Given the description of an element on the screen output the (x, y) to click on. 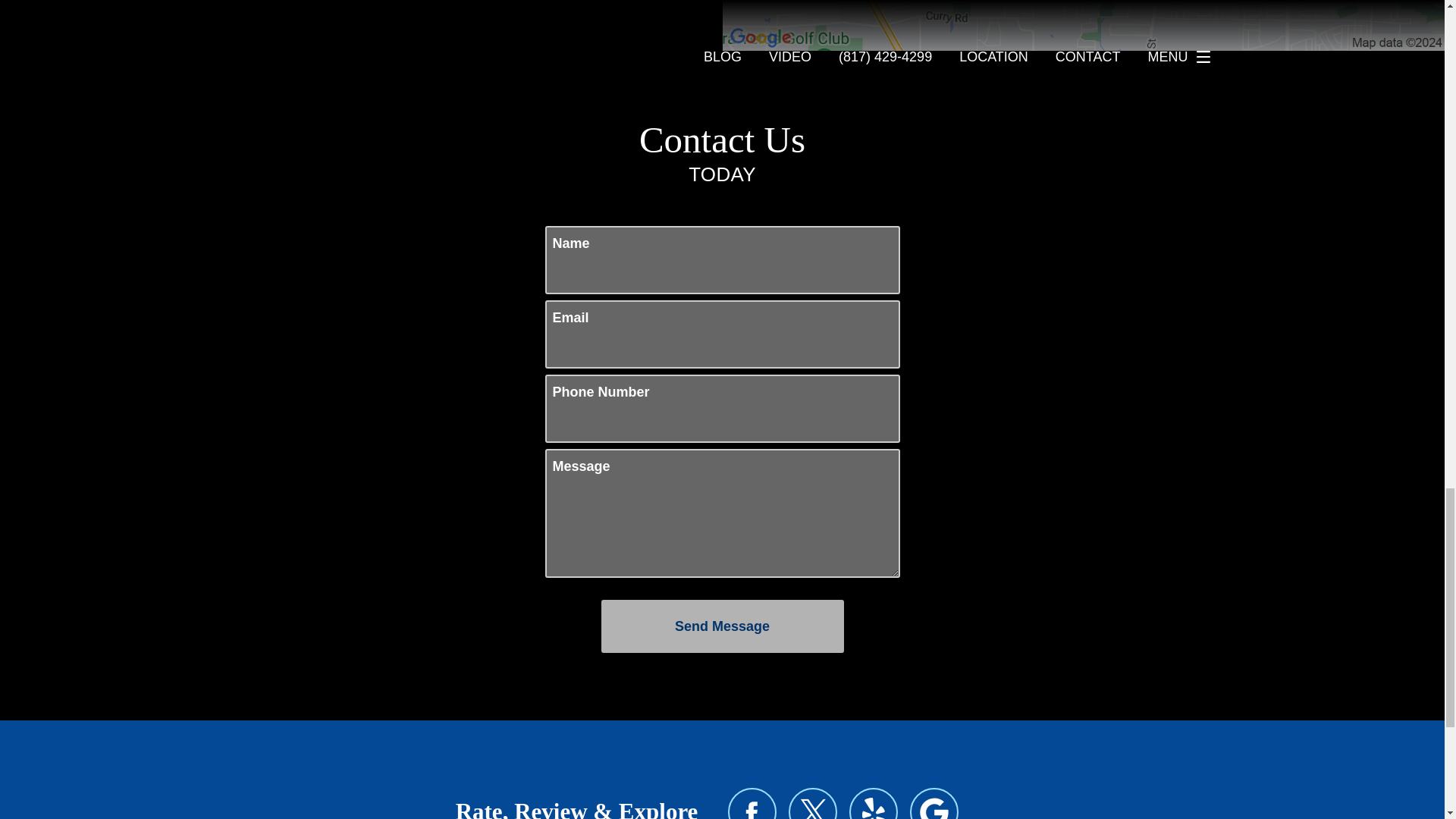
Facebook (752, 803)
Twitter (813, 803)
Yelp (873, 803)
Google (934, 803)
Send Message (721, 625)
